Given the description of an element on the screen output the (x, y) to click on. 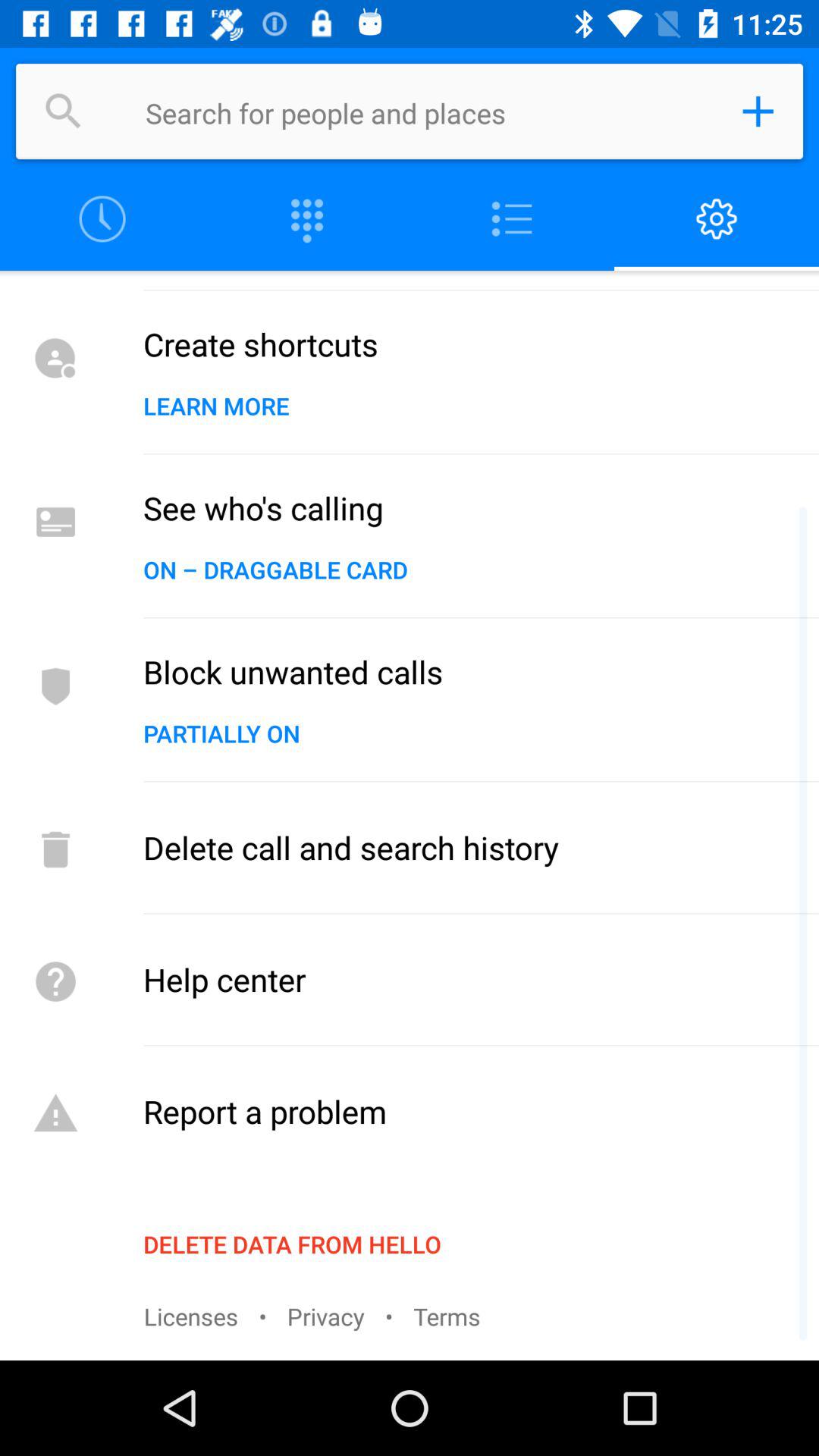
search for people or places (63, 111)
